Given the description of an element on the screen output the (x, y) to click on. 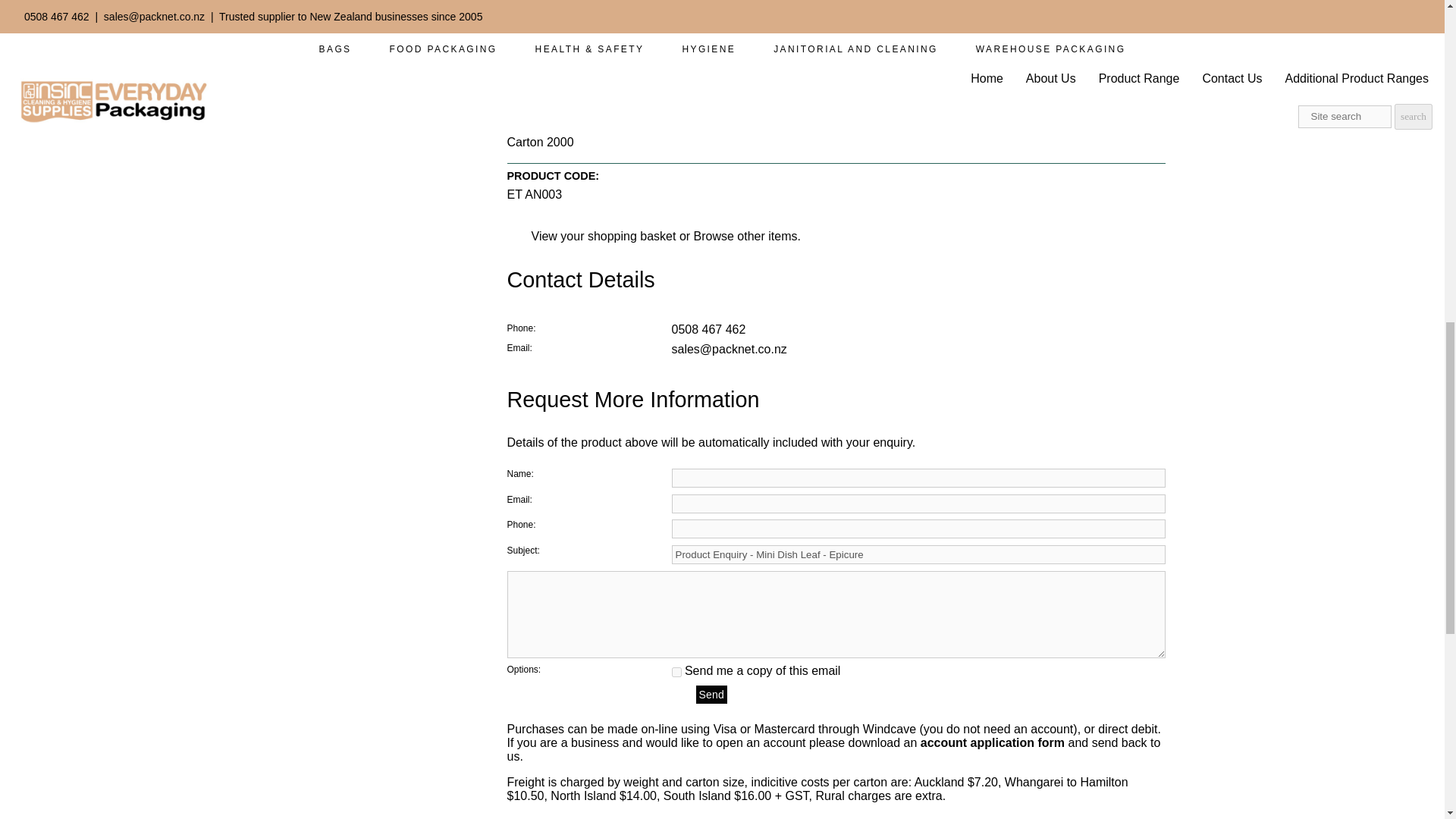
Send (711, 694)
1 (676, 672)
BUY (691, 11)
Product Enquiry - Mini Dish Leaf - Epicure (918, 554)
